Given the description of an element on the screen output the (x, y) to click on. 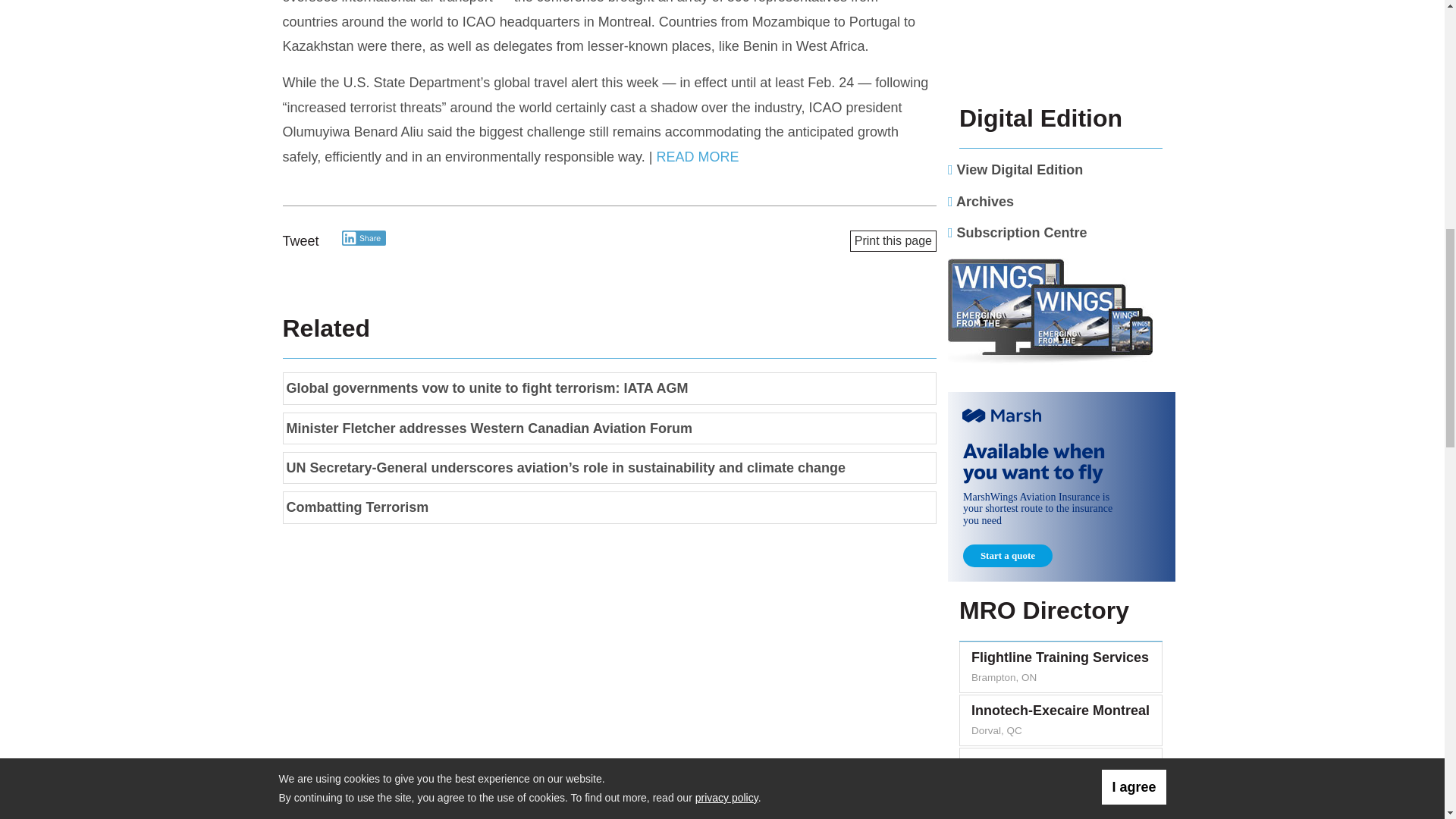
3rd party ad content (1060, 486)
3rd party ad content (1060, 44)
